Given the description of an element on the screen output the (x, y) to click on. 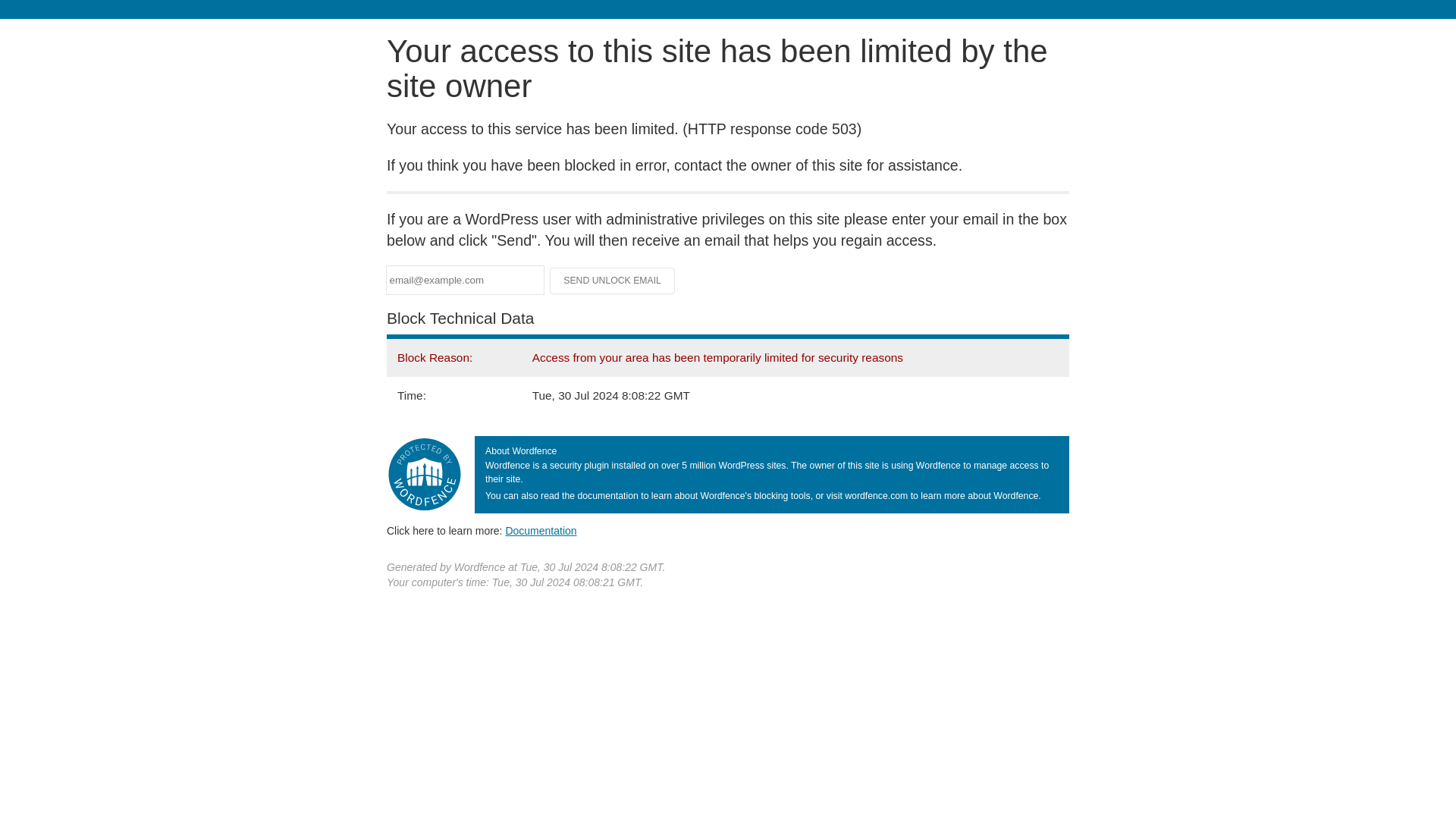
Send Unlock Email (612, 280)
Send Unlock Email (612, 280)
